Given the description of an element on the screen output the (x, y) to click on. 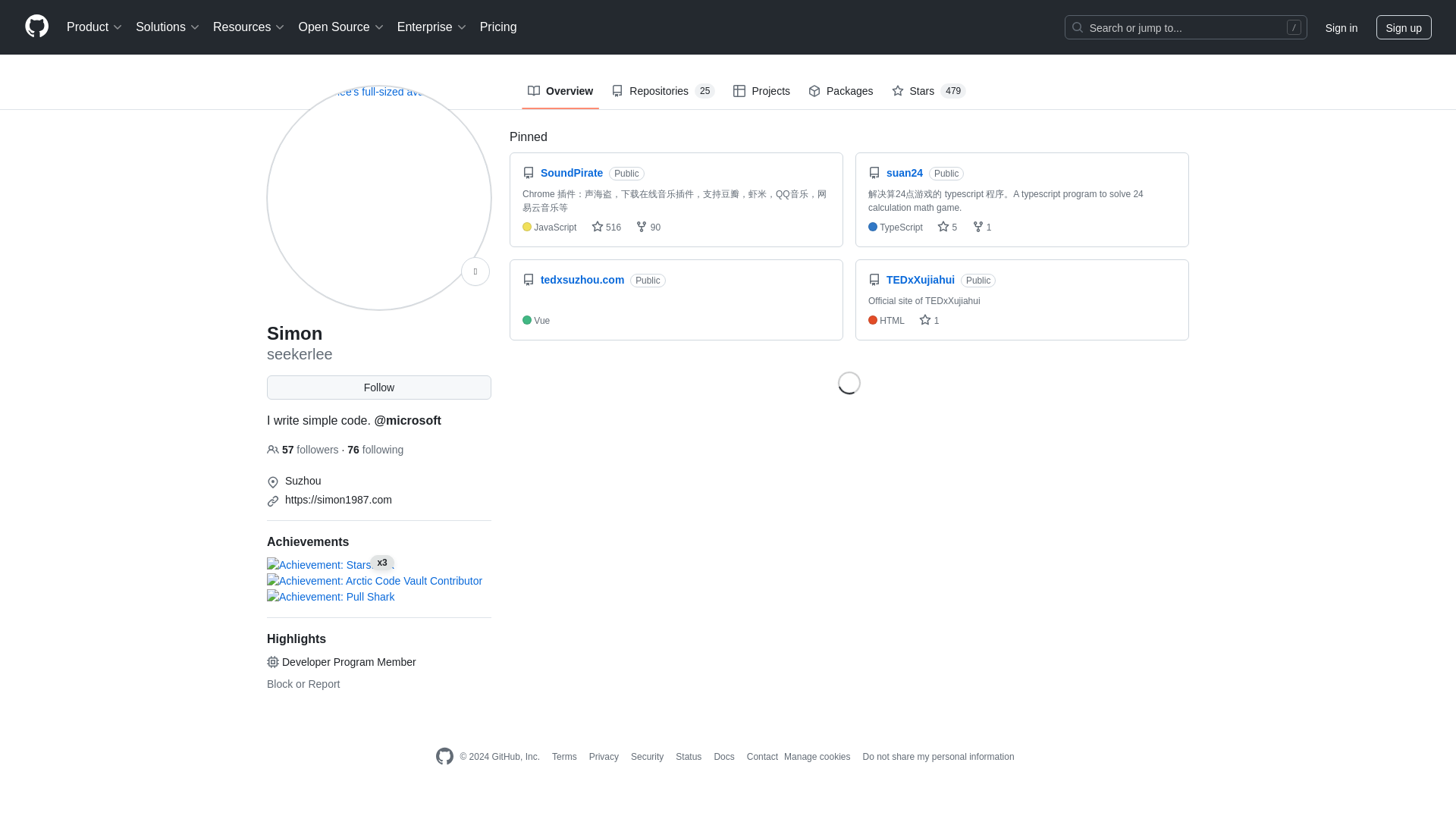
479 (953, 90)
25 (704, 90)
GitHub (443, 756)
Open Source (341, 27)
Solutions (167, 27)
Product (95, 27)
Resources (249, 27)
